Given the description of an element on the screen output the (x, y) to click on. 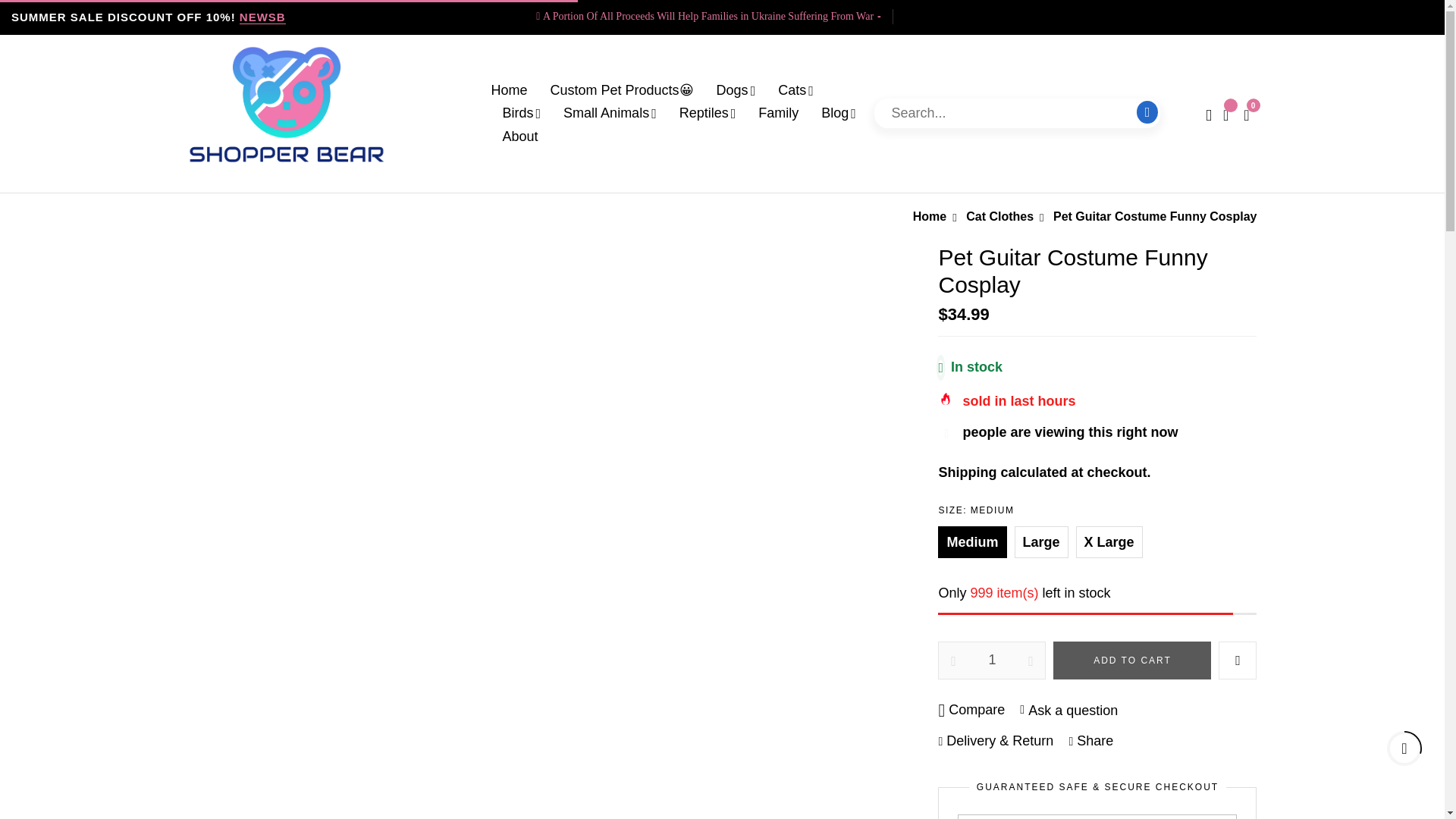
1 (992, 660)
NEWSB (262, 17)
